Given the description of an element on the screen output the (x, y) to click on. 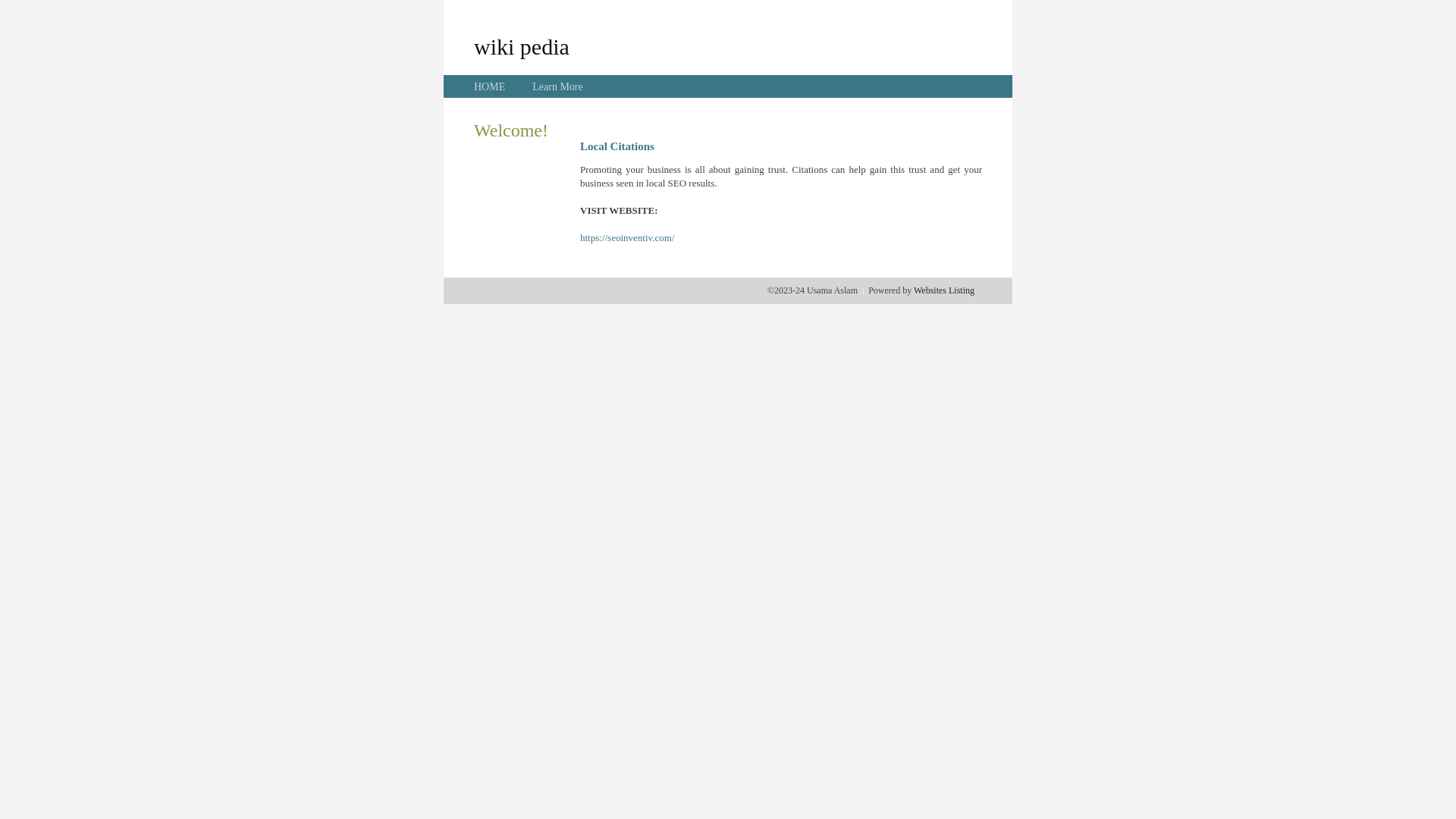
Learn More Element type: text (557, 86)
HOME Element type: text (489, 86)
Websites Listing Element type: text (943, 290)
wiki pedia Element type: text (521, 46)
https://seoinventiv.com/ Element type: text (627, 237)
